Given the description of an element on the screen output the (x, y) to click on. 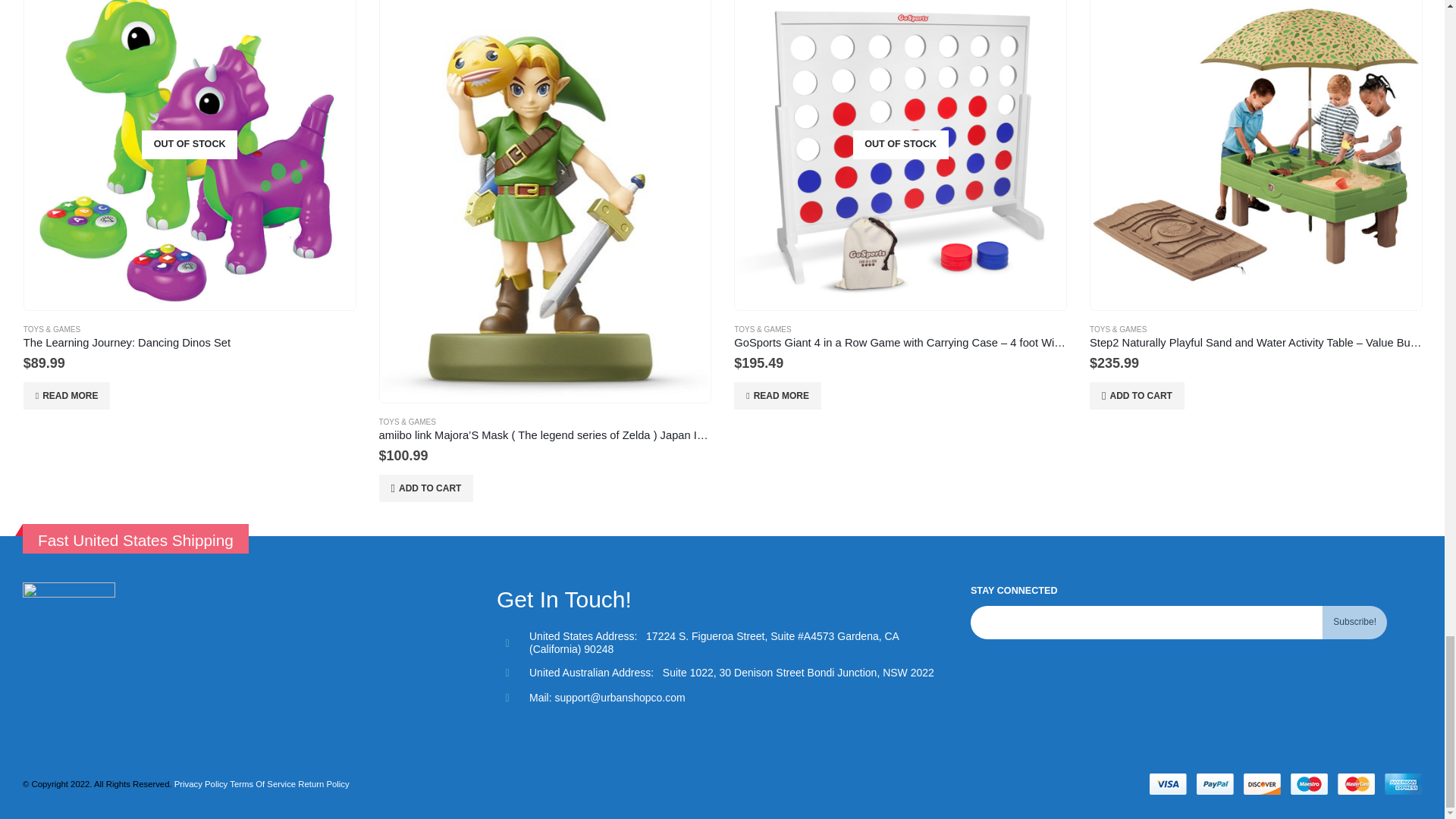
Subscribe! (1354, 622)
